Given the description of an element on the screen output the (x, y) to click on. 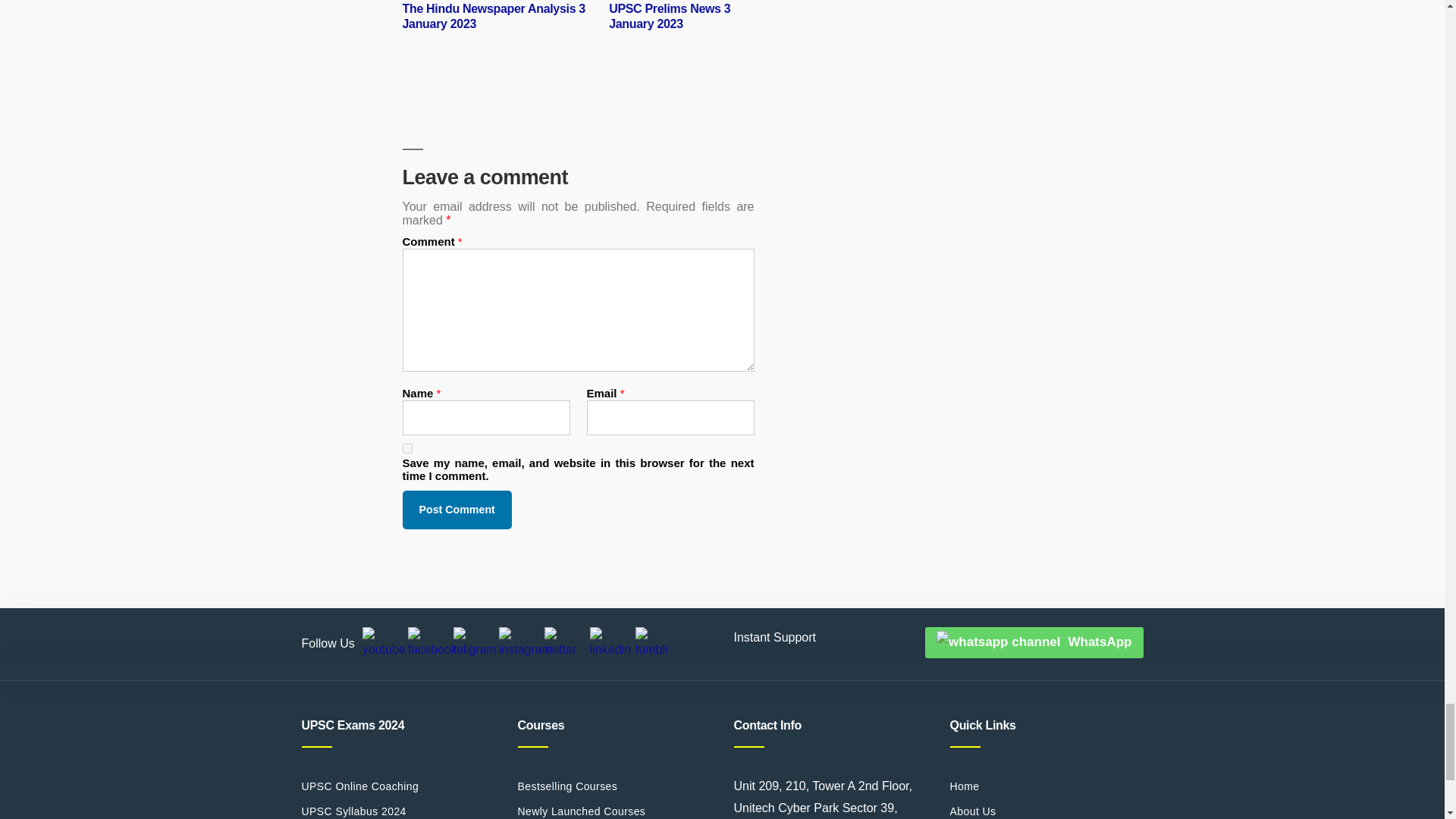
yes (406, 448)
Post Comment (456, 509)
